Given the description of an element on the screen output the (x, y) to click on. 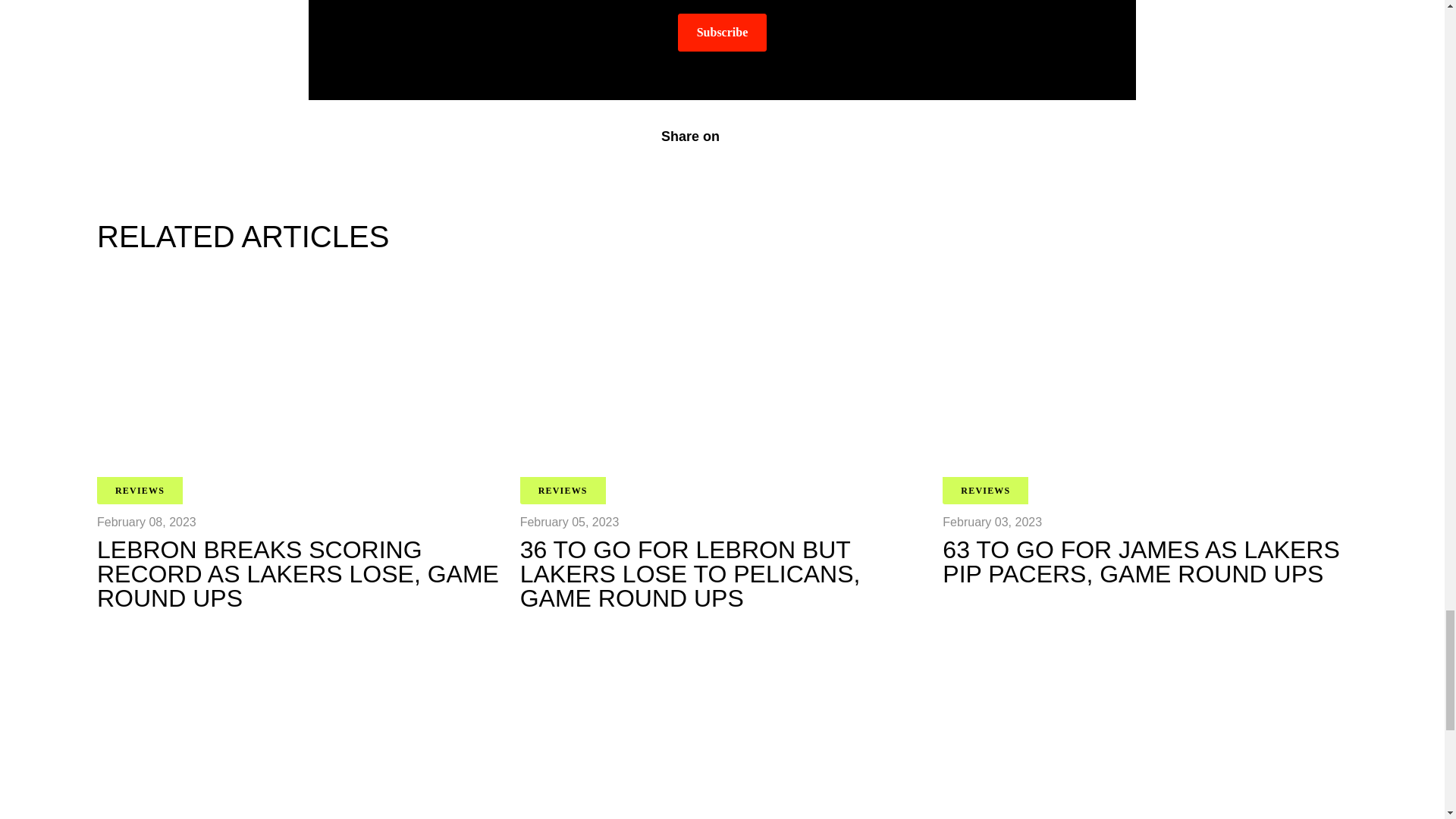
Share on Twitter (770, 136)
Share on Twitter (770, 136)
Share on Facebook (740, 136)
Share on Facebook (740, 136)
Subscribe (722, 32)
